Given the description of an element on the screen output the (x, y) to click on. 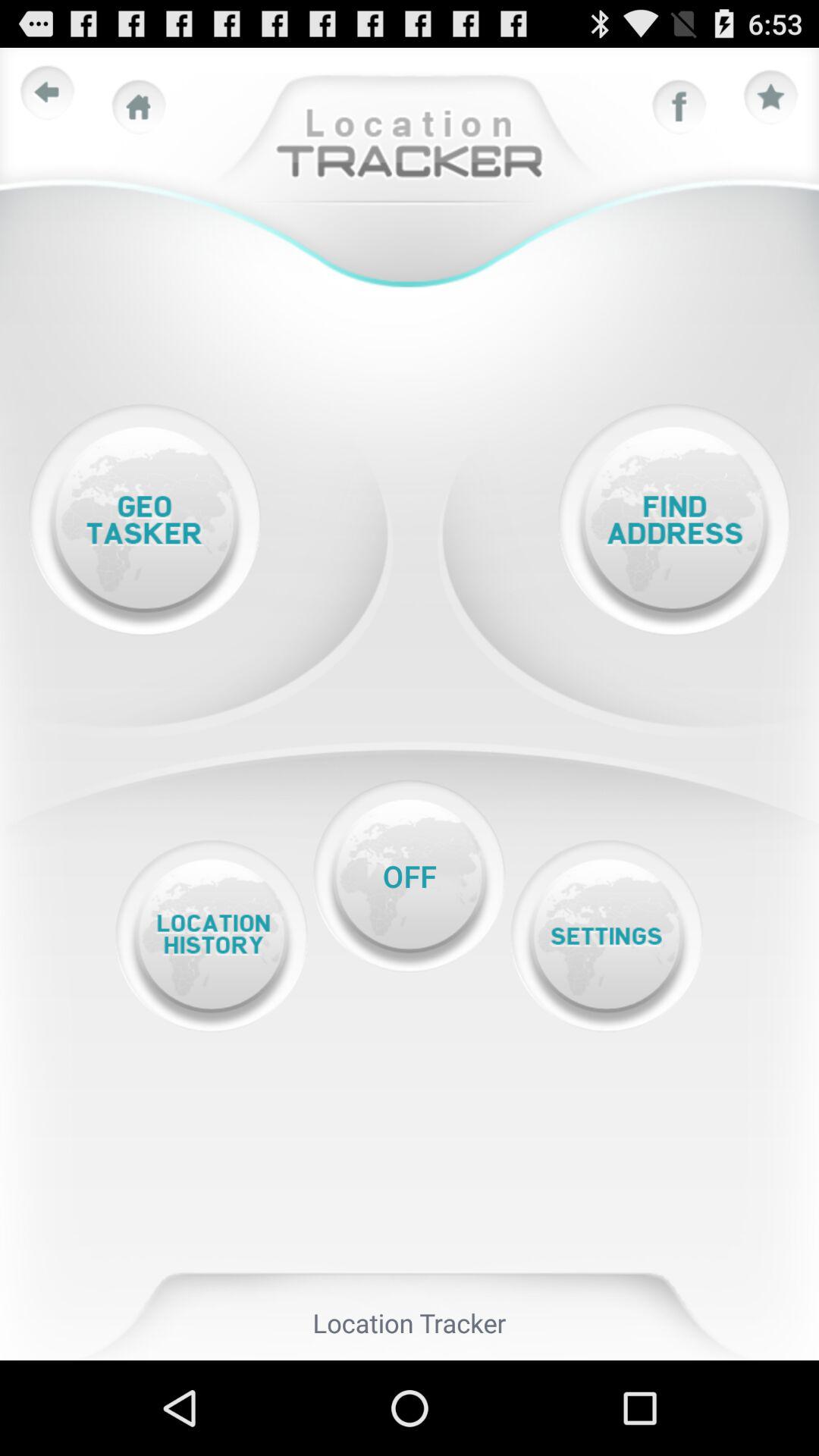
go to location history (211, 936)
